Given the description of an element on the screen output the (x, y) to click on. 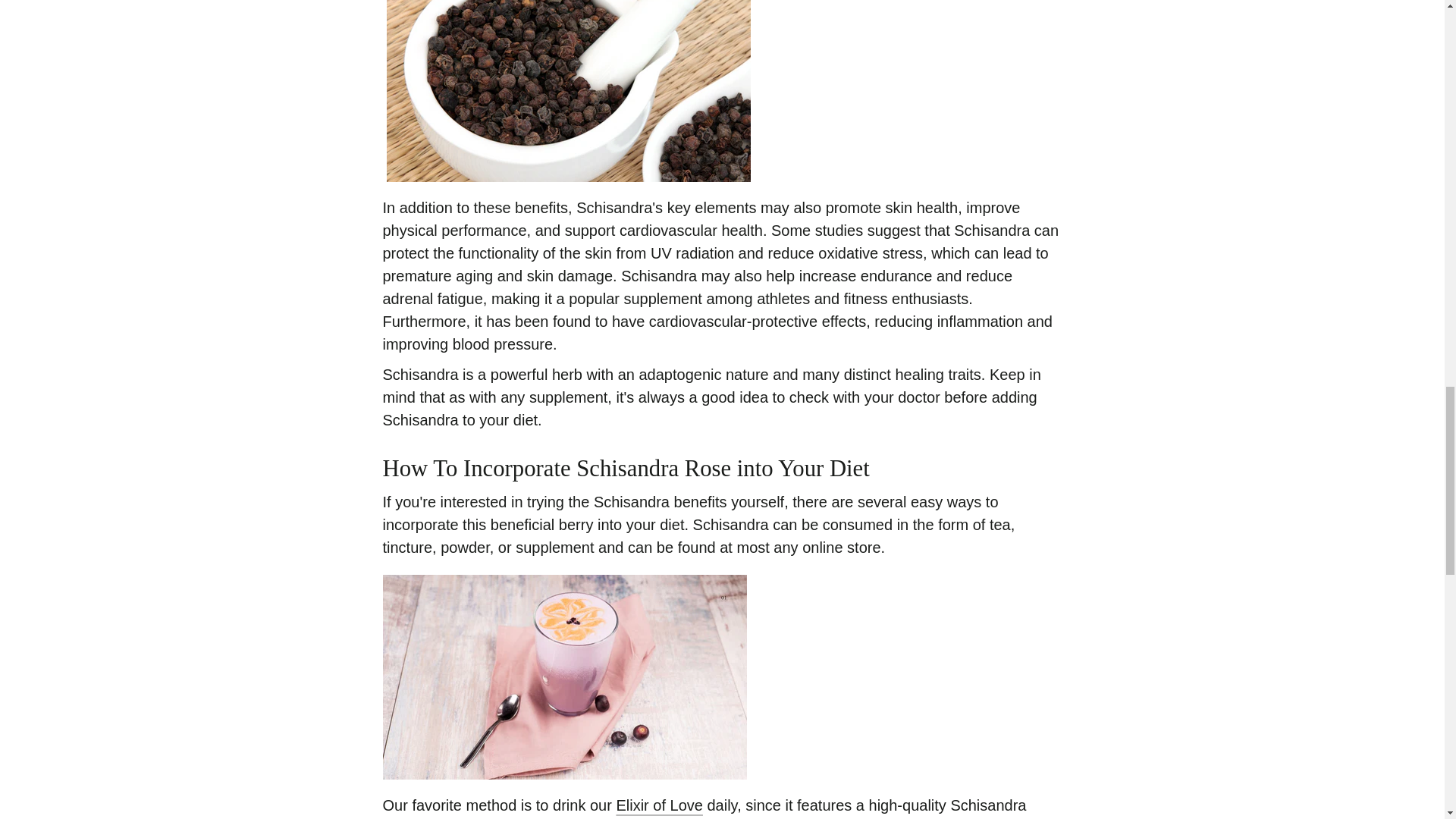
Elixir of Love (659, 805)
